Given the description of an element on the screen output the (x, y) to click on. 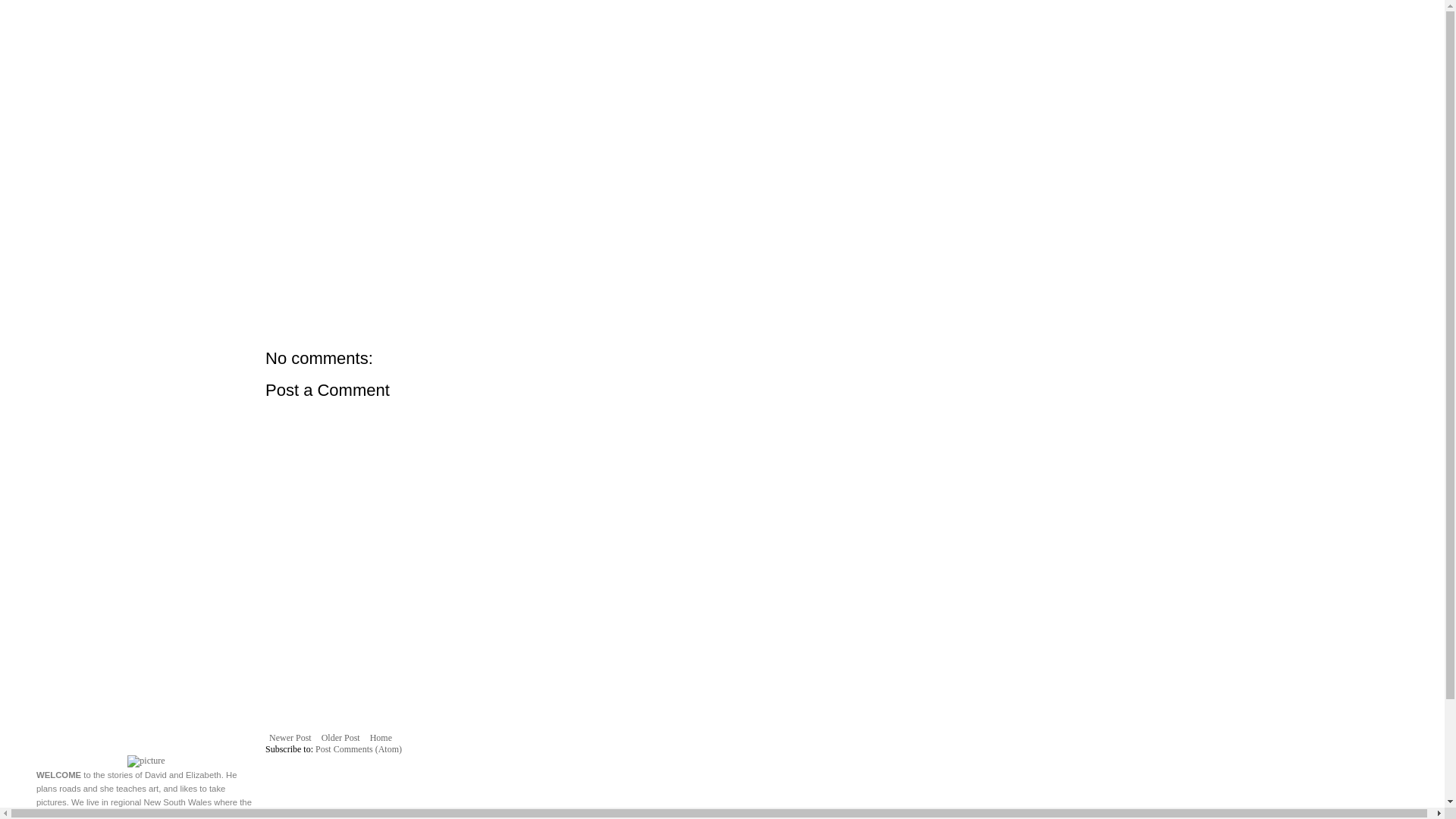
engaged Element type: text (293, 302)
love Element type: text (318, 302)
Home Element type: text (380, 737)
Older Post Element type: text (340, 737)
Newer Post Element type: text (290, 737)
picture Element type: hover (145, 761)
Post Comments (Atom) Element type: text (358, 748)
